Given the description of an element on the screen output the (x, y) to click on. 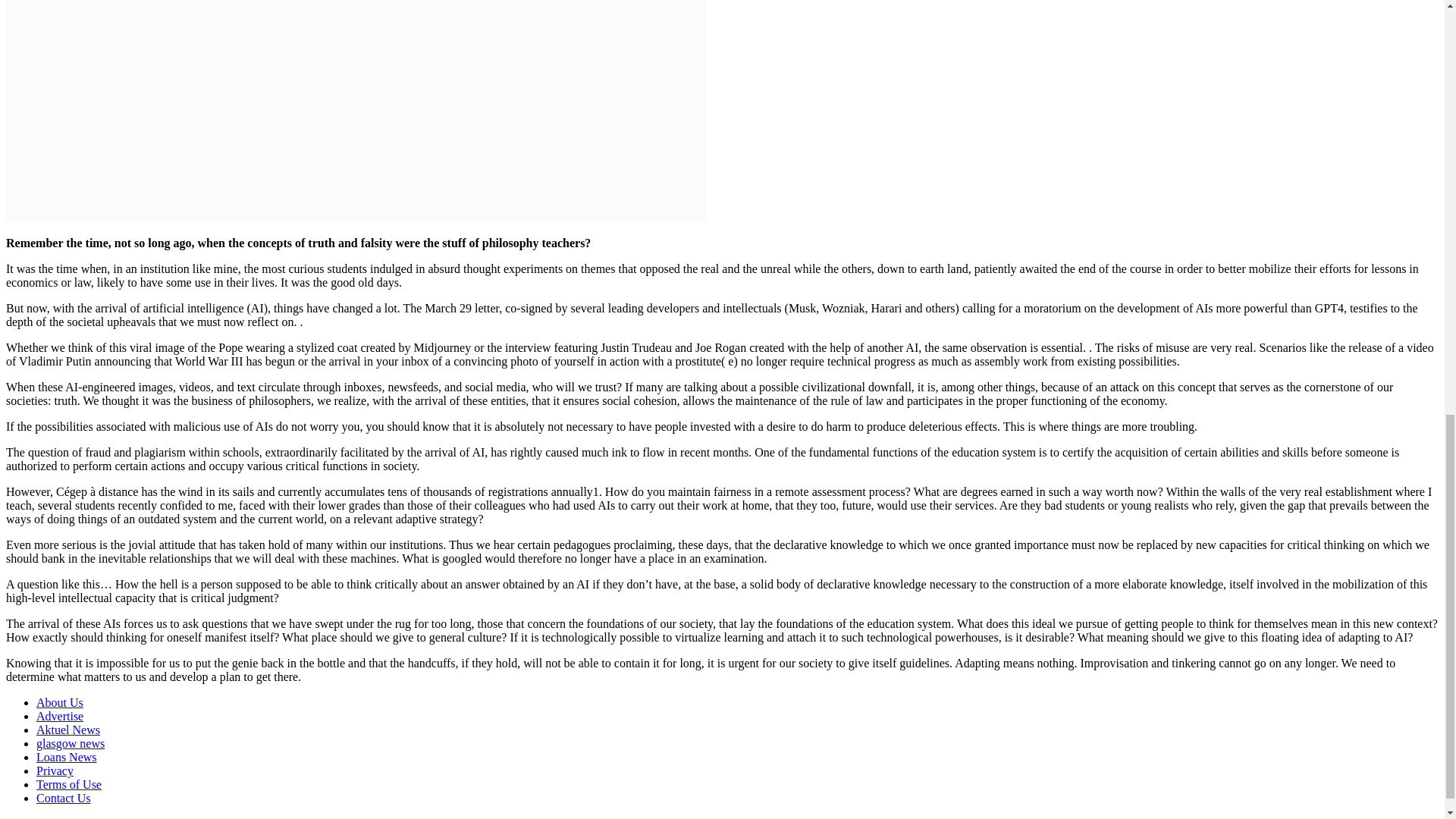
Terms of Use (68, 784)
Aktuel News (68, 729)
Advertise (59, 716)
Privacy (55, 770)
Contact Us (63, 797)
Loans News (66, 757)
glasgow news (70, 743)
About Us (59, 702)
